Given the description of an element on the screen output the (x, y) to click on. 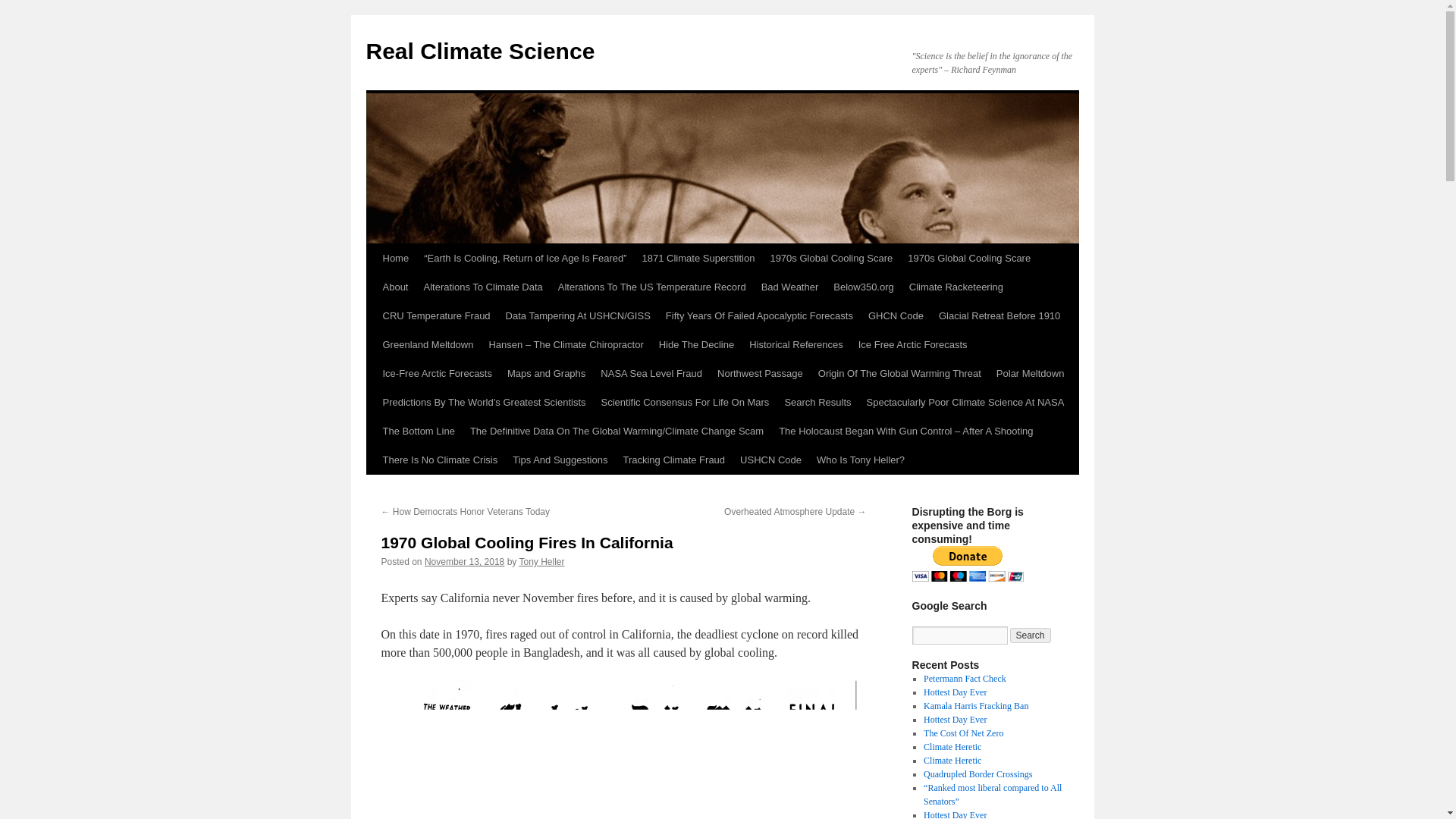
About (394, 287)
NASA Sea Level Fraud (651, 373)
Origin Of The Global Warming Threat (899, 373)
Below350.org (863, 287)
Ice Free Arctic Forecasts (912, 344)
Alterations To Climate Data (482, 287)
Bad Weather (790, 287)
Northwest Passage (760, 373)
Search (1030, 635)
Polar Meltdown (1029, 373)
View all posts by Tony Heller (541, 561)
Fifty Years Of Failed Apocalyptic Forecasts (759, 316)
The Bottom Line (417, 430)
1970s Global Cooling Scare (968, 258)
Tracking Climate Fraud (673, 460)
